Given the description of an element on the screen output the (x, y) to click on. 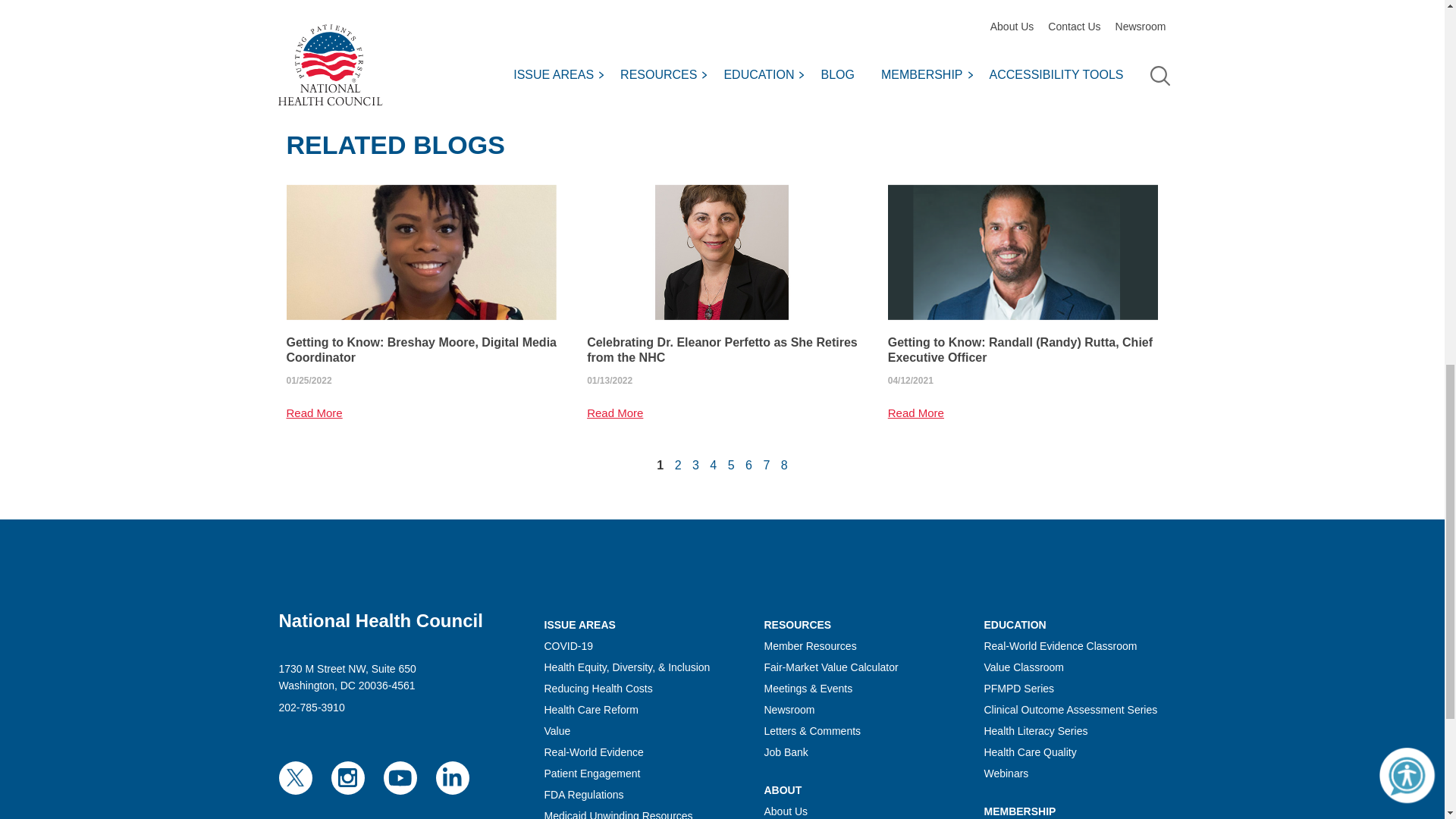
Celebrating Dr. Eleanor Perfetto as She Retires from the NHC (721, 251)
Celebrating Dr. Eleanor Perfetto as She Retires from the NHC (721, 349)
Getting to Know: Breshay Moore, Digital Media Coordinator (421, 349)
Getting to Know: Breshay Moore, Digital Media Coordinator (421, 251)
